Given the description of an element on the screen output the (x, y) to click on. 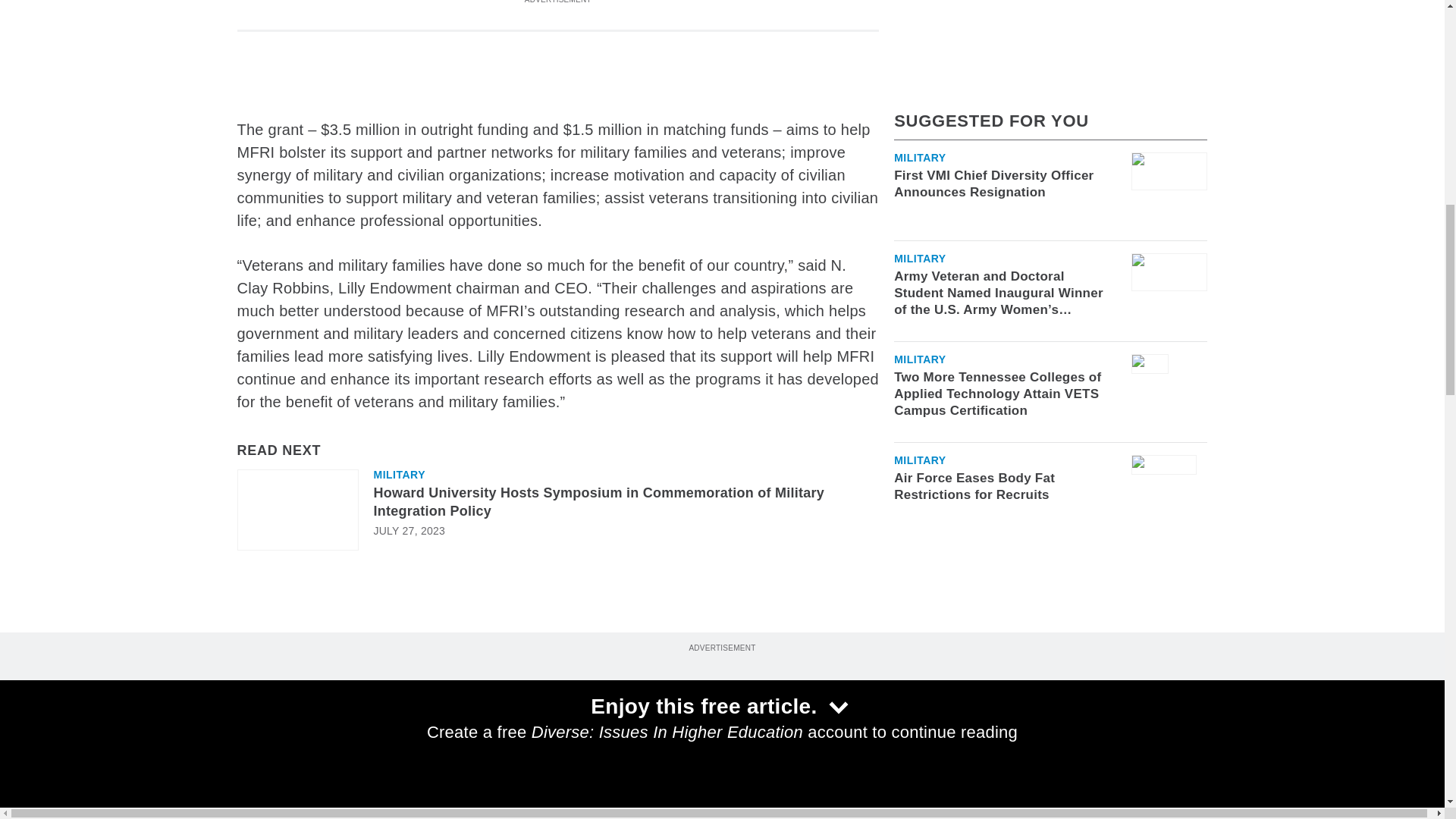
Military (919, 91)
Military (919, 294)
Military (919, 193)
Military (398, 474)
